Given the description of an element on the screen output the (x, y) to click on. 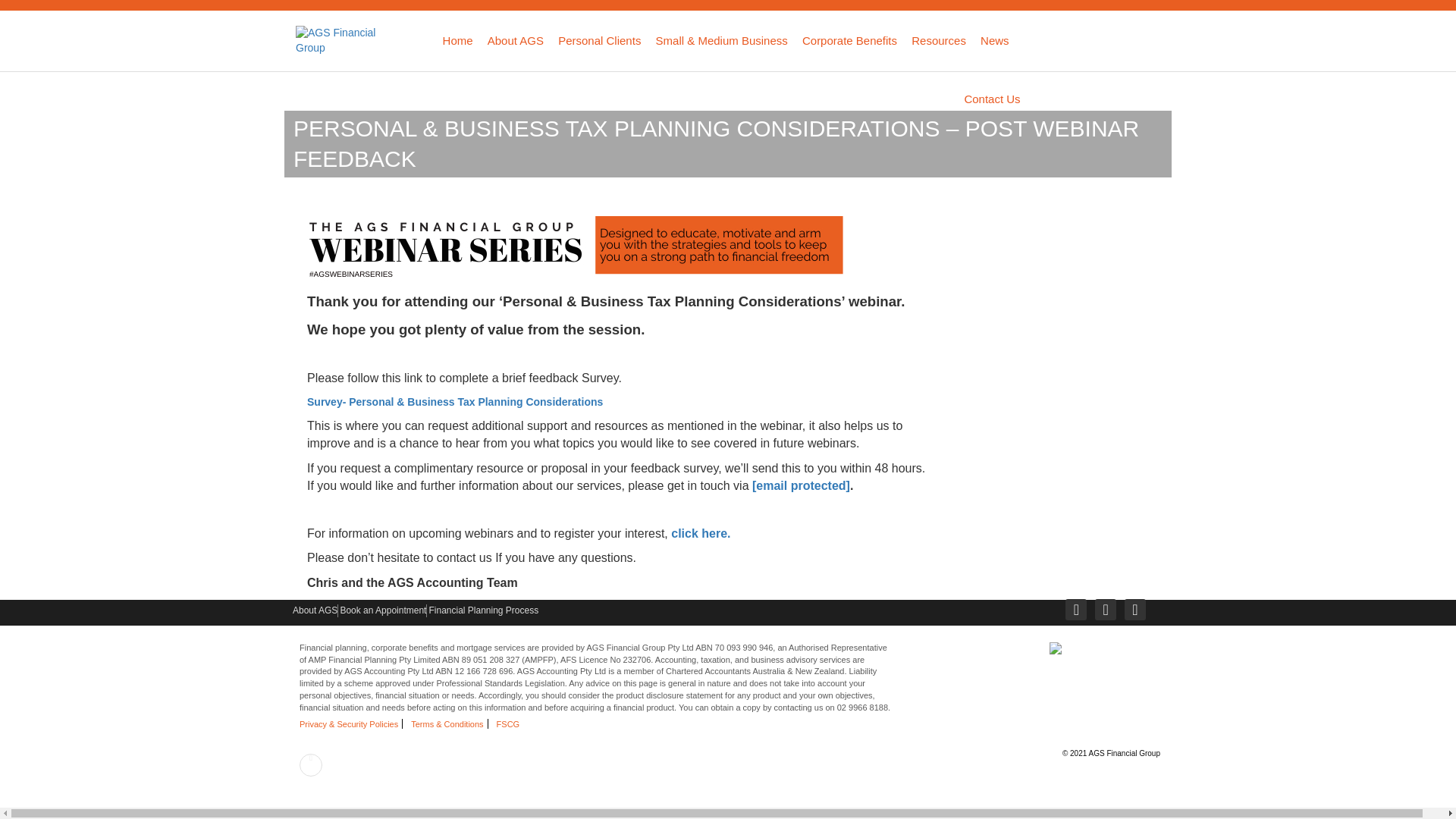
Twitter (1105, 608)
About AGS (515, 40)
Instagram (1134, 608)
Resources (938, 40)
Personal Clients (598, 40)
Corporate Benefits (849, 40)
Facebook (1075, 608)
